Given the description of an element on the screen output the (x, y) to click on. 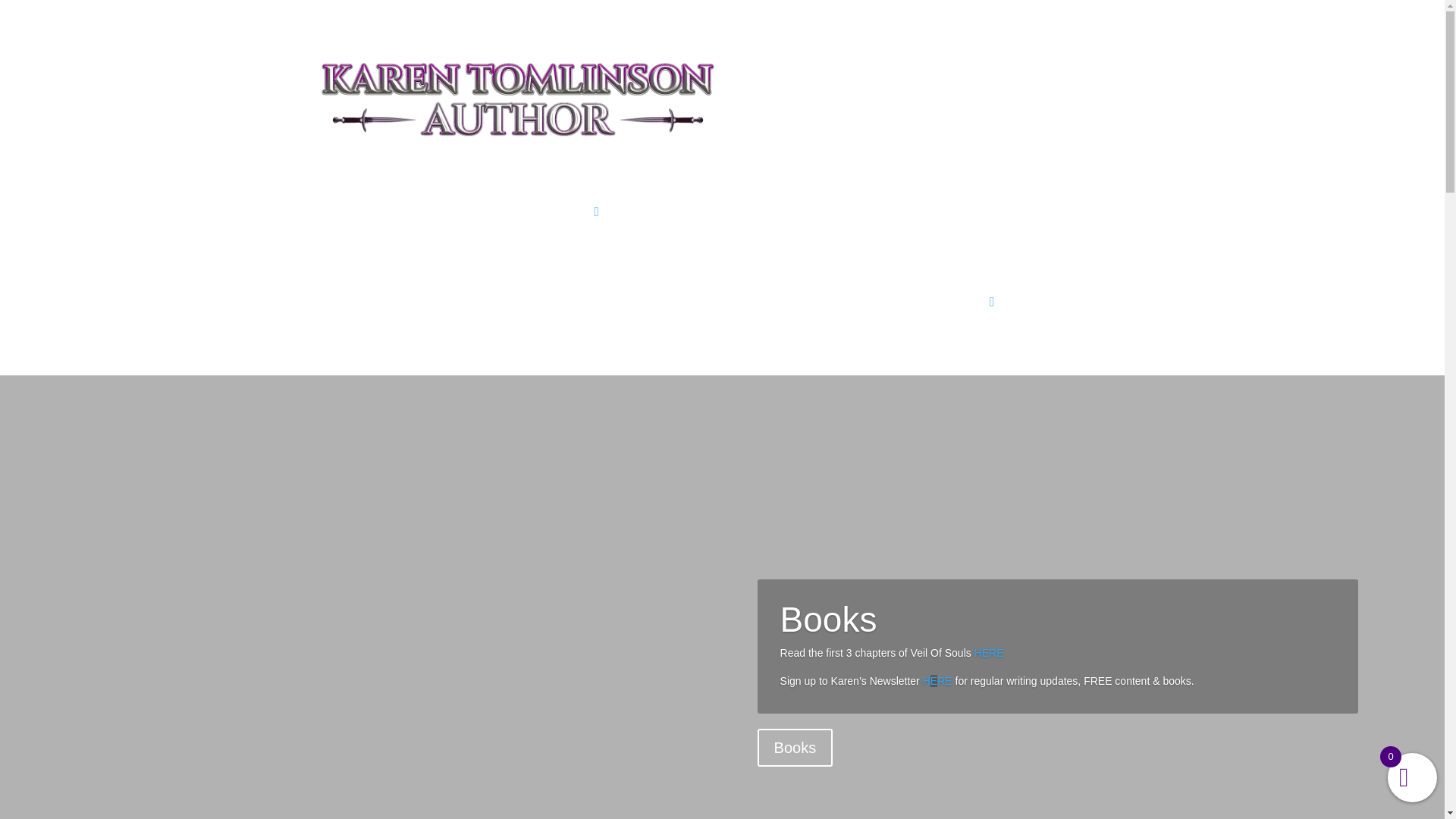
Follow on RSS (524, 193)
Author Profile (811, 196)
Contact (961, 196)
Home (598, 196)
Author Profile (667, 305)
Follow on Facebook (645, 273)
Blog (871, 196)
Shop (1009, 196)
Follow on Youtube (766, 273)
Follow on Instagram (706, 273)
Follow on Facebook (373, 193)
Suggested reading order (696, 196)
Home (456, 305)
Follow on Pinterest (463, 193)
Follow on Youtube (493, 193)
